Given the description of an element on the screen output the (x, y) to click on. 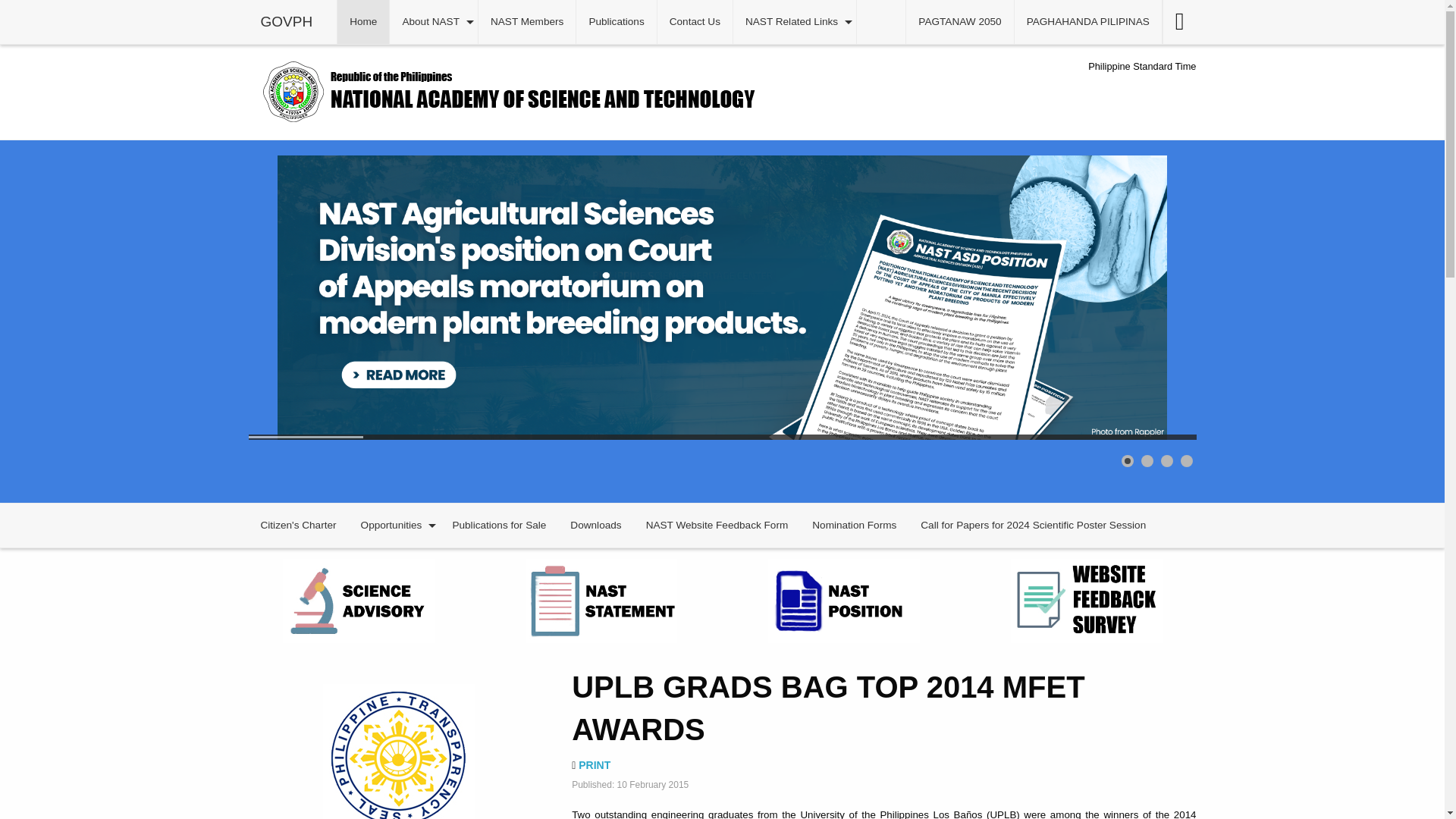
Latest News (362, 22)
